Given the description of an element on the screen output the (x, y) to click on. 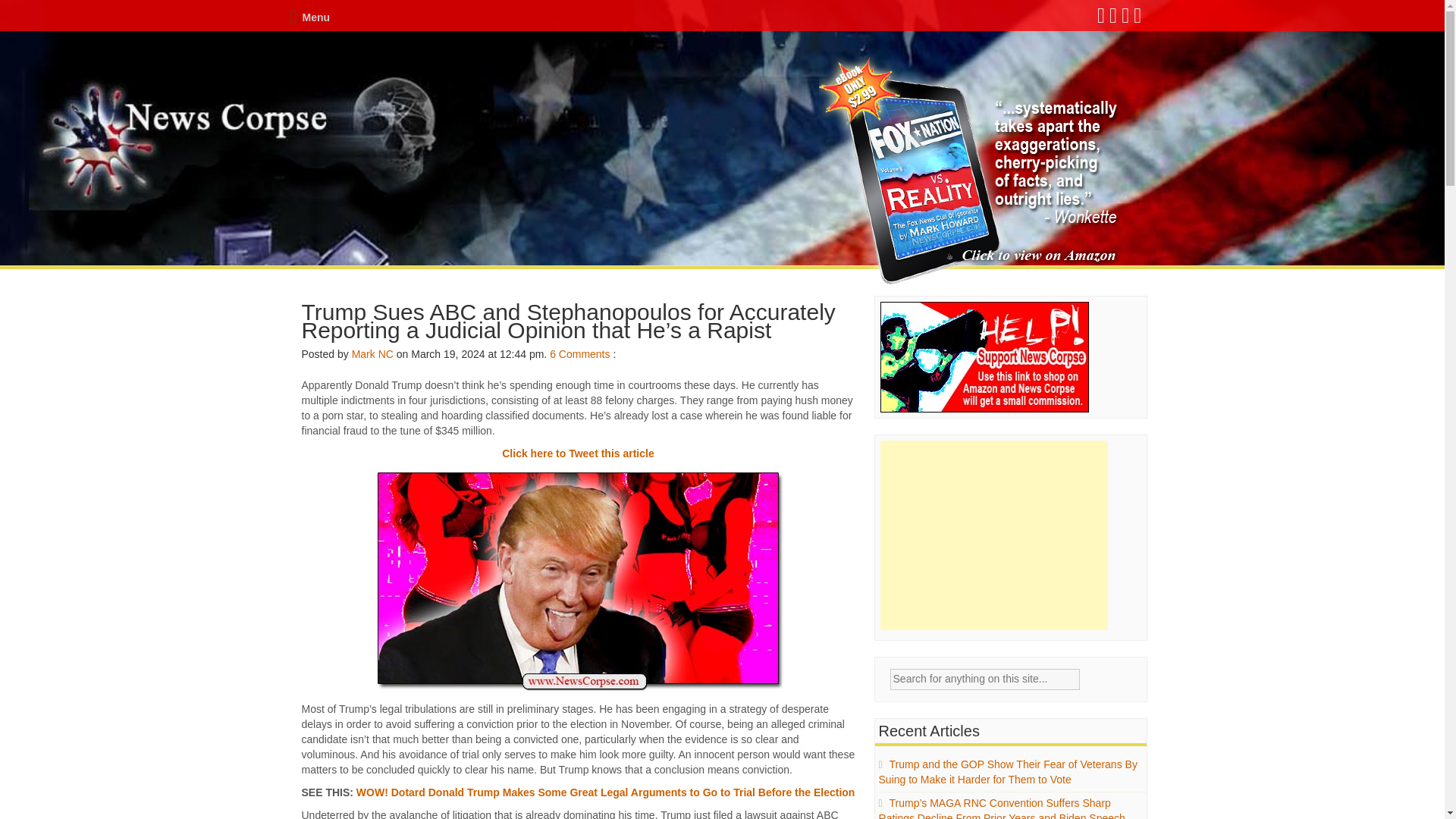
Menu (309, 17)
Twitter (1113, 19)
Pinterest (1138, 19)
Facebook (1101, 19)
Fox Nation vs. Reality (971, 170)
Comments (584, 354)
Posts by Mark NC (372, 354)
Mark NC (372, 354)
Click here to Tweet this article (577, 453)
6 (553, 354)
Google Plus (1126, 19)
